Given the description of an element on the screen output the (x, y) to click on. 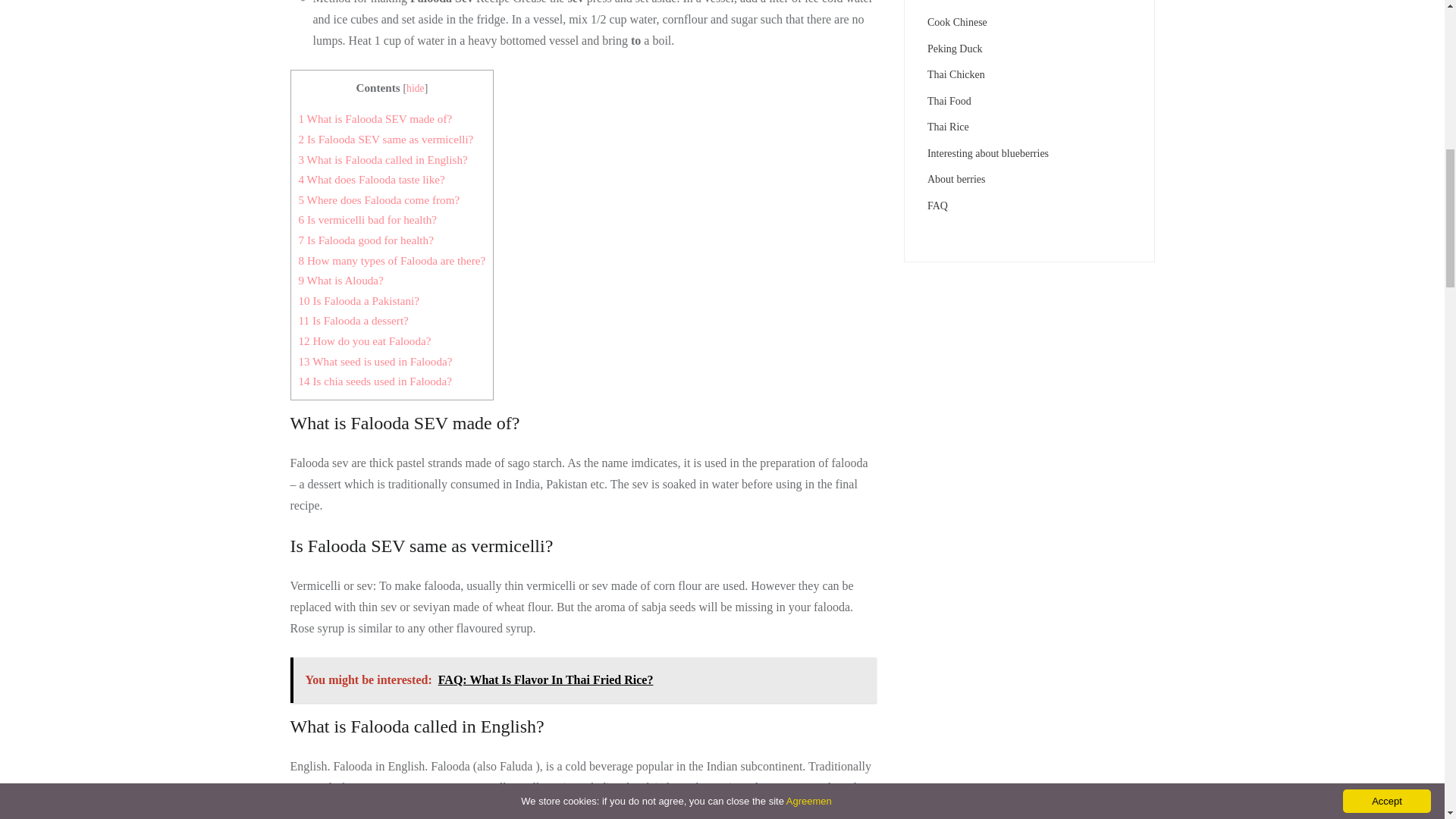
3 What is Falooda called in English? (382, 159)
6 Is vermicelli bad for health? (368, 219)
2 Is Falooda SEV same as vermicelli? (386, 138)
hide (415, 88)
1 What is Falooda SEV made of? (375, 118)
8 How many types of Falooda are there? (392, 259)
7 Is Falooda good for health? (365, 239)
5 Where does Falooda come from? (379, 199)
9 What is Alouda? (341, 279)
4 What does Falooda taste like? (371, 178)
